Given the description of an element on the screen output the (x, y) to click on. 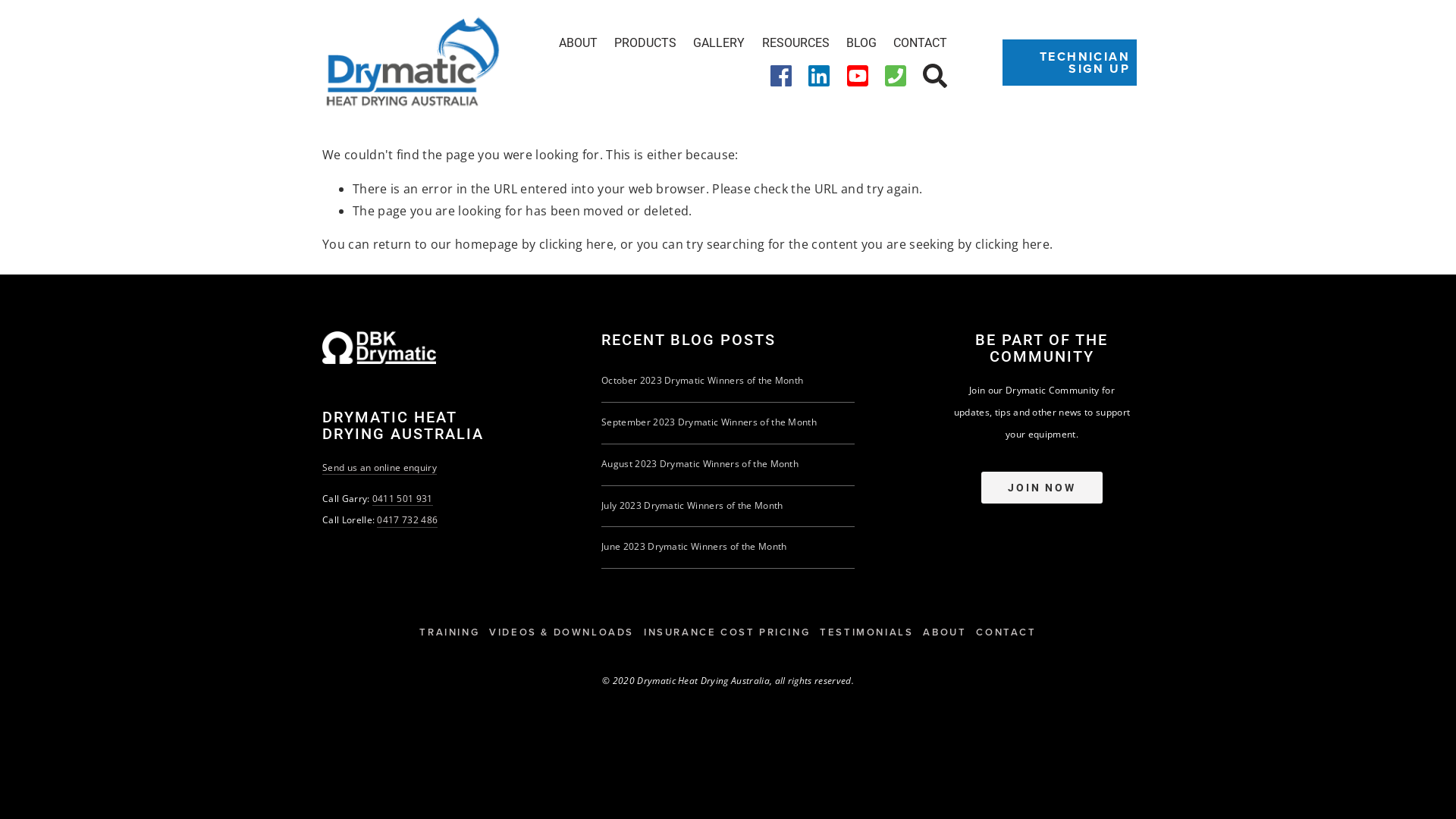
August 2023 Drymatic Winners of the Month Element type: text (699, 463)
PRODUCTS Element type: text (645, 42)
INSURANCE COST PRICING Element type: text (731, 632)
ABOUT Element type: text (577, 42)
October 2023 Drymatic Winners of the Month Element type: text (702, 379)
TESTIMONIALS Element type: text (870, 632)
June 2023 Drymatic Winners of the Month Element type: text (693, 545)
CONTACT Element type: text (920, 42)
September 2023 Drymatic Winners of the Month Element type: text (708, 421)
VIDEOS & DOWNLOADS Element type: text (566, 632)
ABOUT Element type: text (948, 632)
TECHNICIAN SIGN UP Element type: text (1068, 62)
CONTACT Element type: text (1010, 632)
BLOG Element type: text (861, 42)
clicking here Element type: text (1012, 243)
JOIN NOW Element type: text (1041, 487)
July 2023 Drymatic Winners of the Month Element type: text (691, 504)
Send us an online enquiry Element type: text (379, 468)
0417 732 486 Element type: text (406, 520)
GALLERY Element type: text (718, 42)
clicking here Element type: text (576, 243)
TRAINING Element type: text (454, 632)
RESOURCES Element type: text (795, 42)
0411 501 931 Element type: text (402, 499)
